Given the description of an element on the screen output the (x, y) to click on. 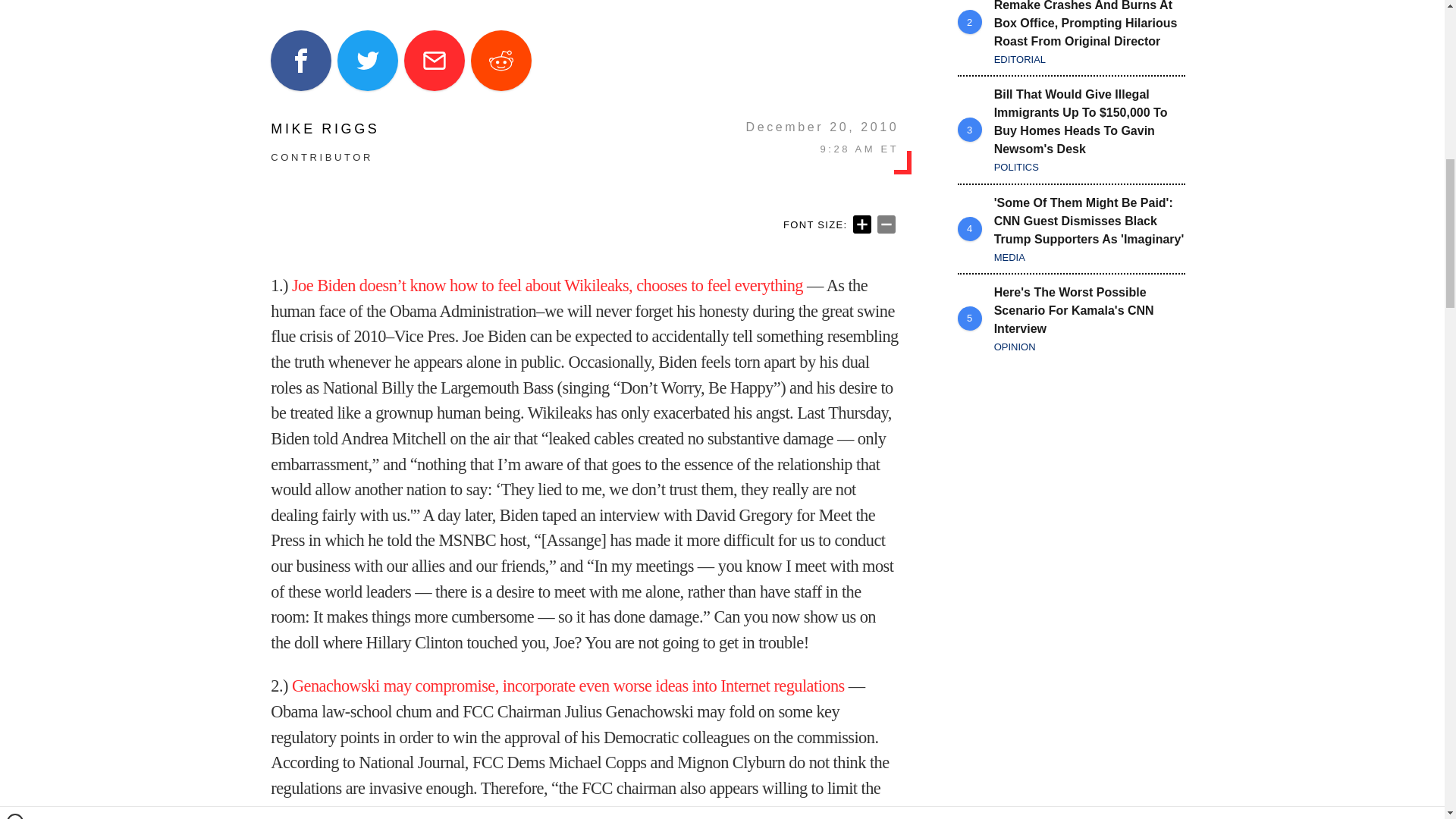
View More Articles By Mike Riggs (324, 128)
Close window (14, 6)
MIKE RIGGS (324, 128)
